Given the description of an element on the screen output the (x, y) to click on. 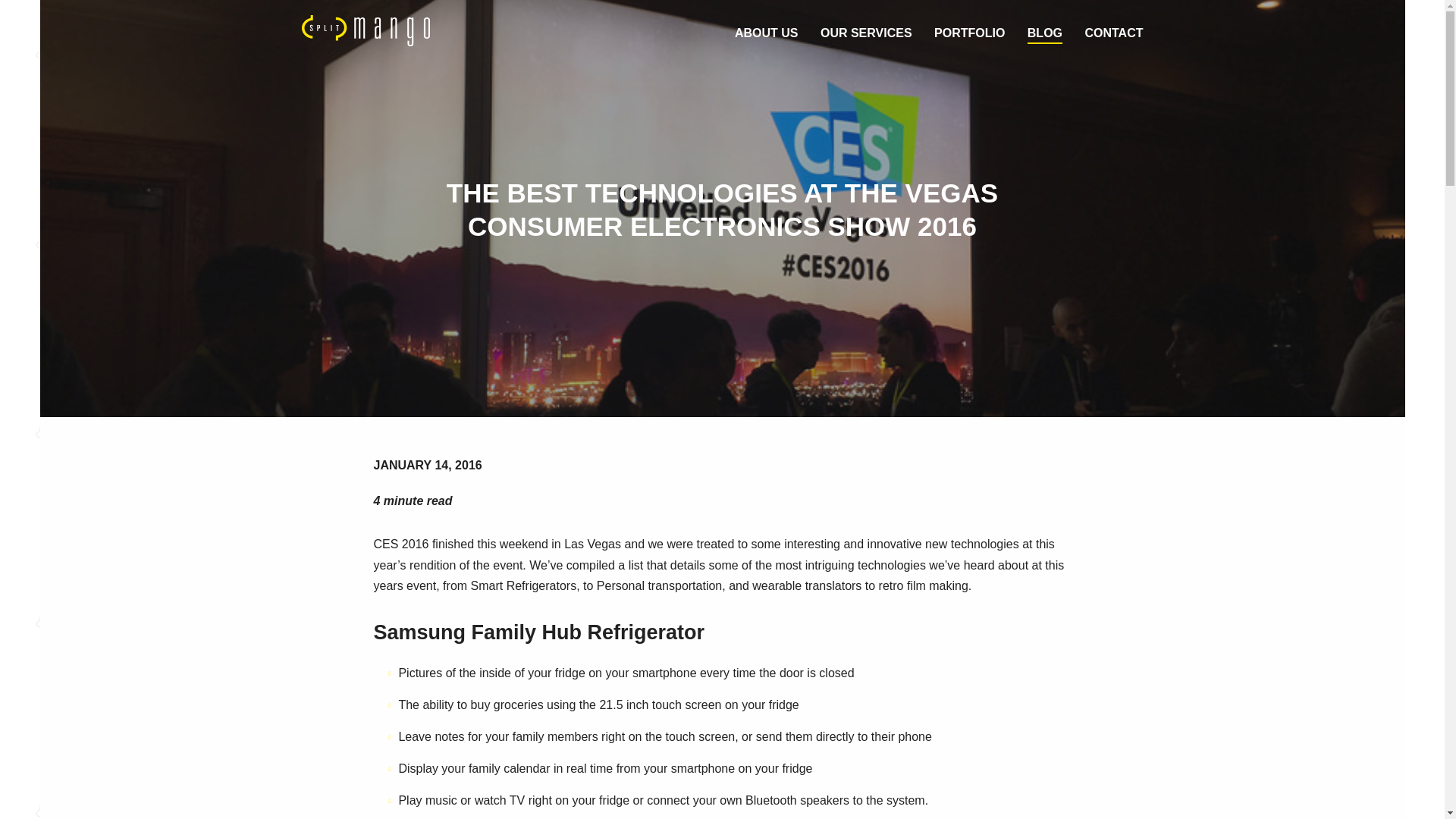
BLOG (1044, 34)
Samsung Family Hub Refrigerator (538, 631)
CONTACT (1113, 34)
OUR SERVICES (866, 34)
PORTFOLIO (969, 34)
ABOUT US (766, 34)
